Given the description of an element on the screen output the (x, y) to click on. 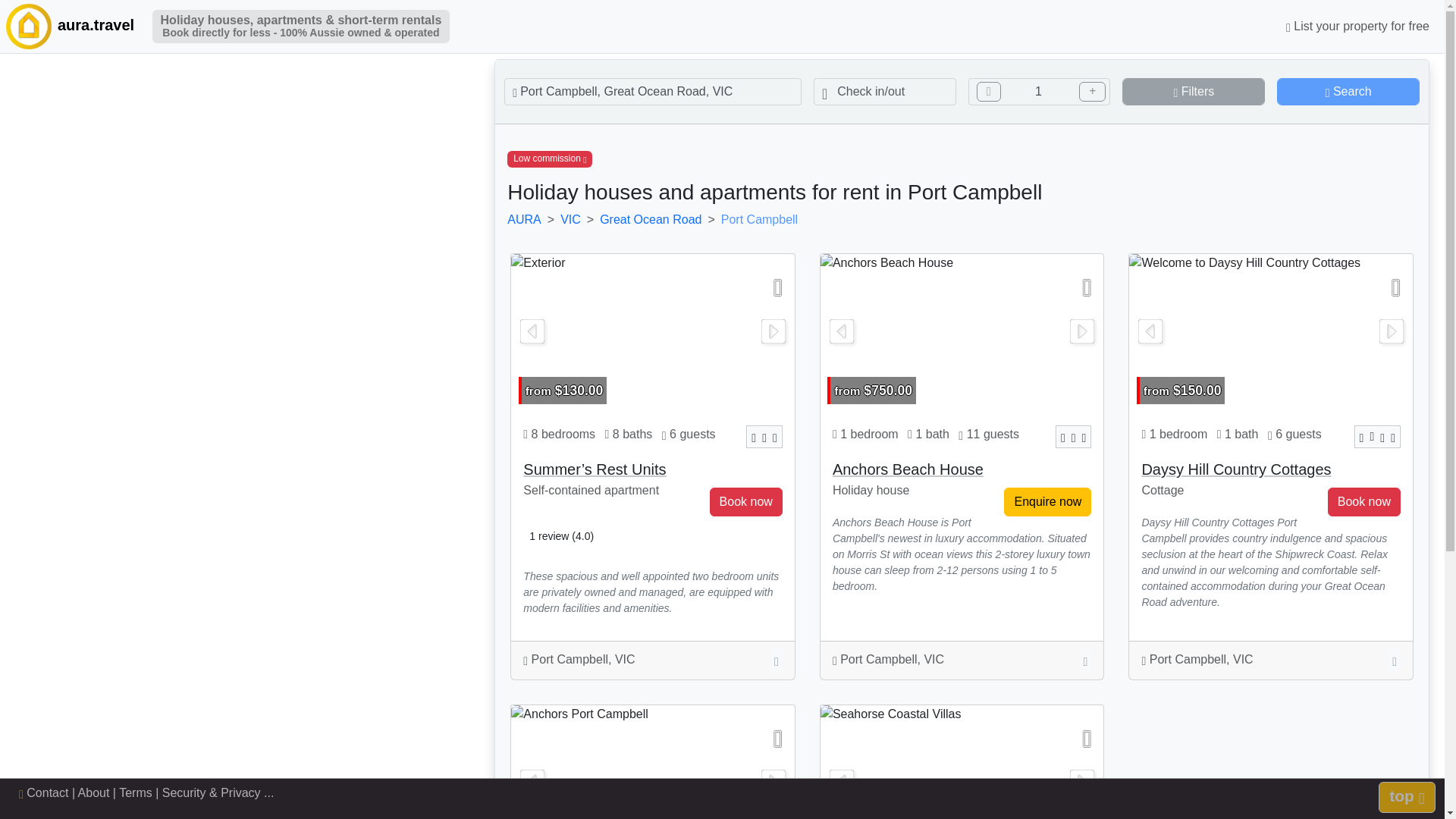
Anchors Beach House (962, 333)
Book now (746, 501)
VIC (570, 219)
AURA (523, 219)
AURA (26, 26)
Port Campbell (758, 219)
Daysy Hill Country Cottages (1235, 469)
Enquire now (1193, 91)
Notice the difference (1047, 501)
